Given the description of an element on the screen output the (x, y) to click on. 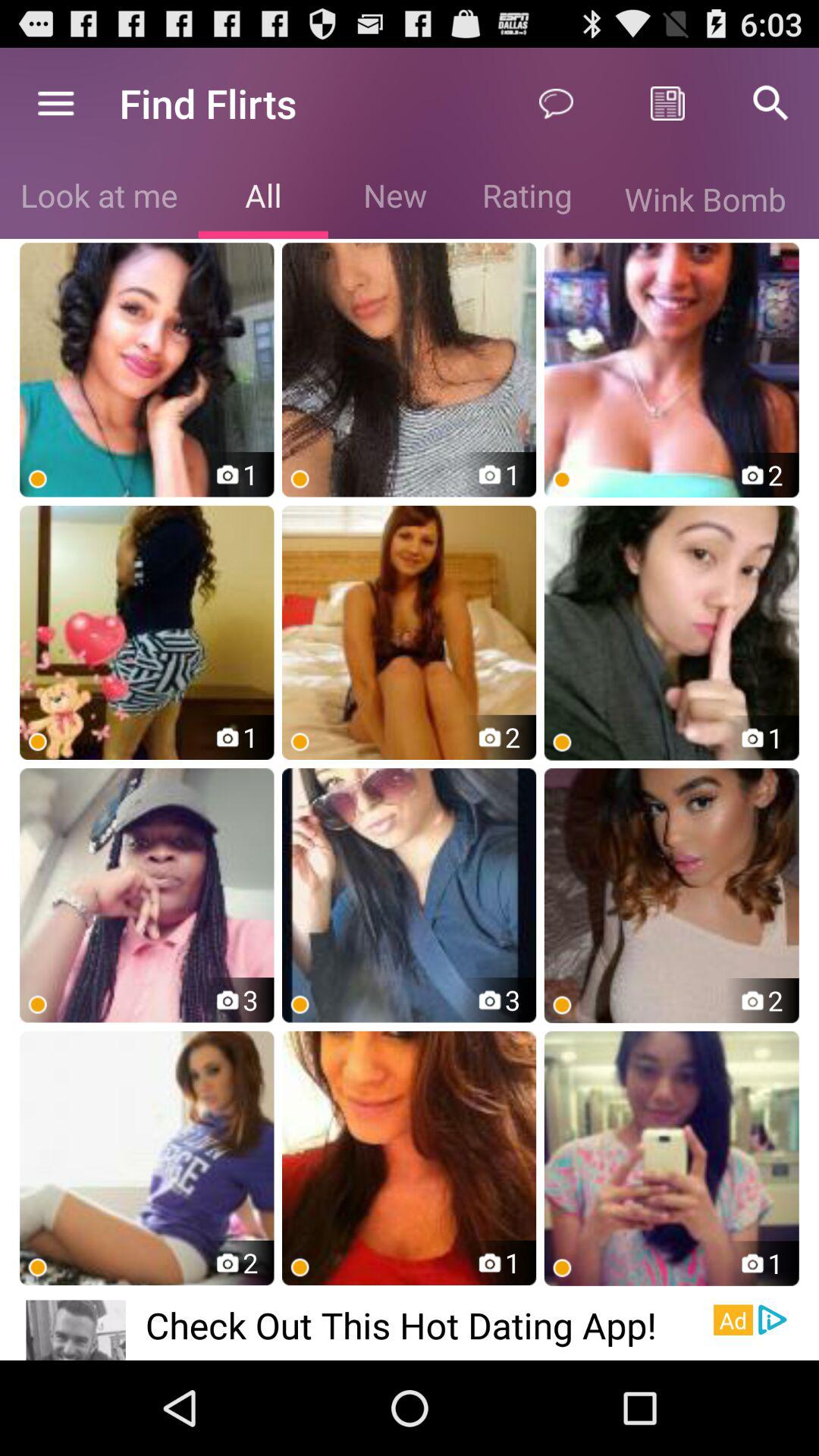
choose the icon to the left of the find flirts (55, 103)
